Given the description of an element on the screen output the (x, y) to click on. 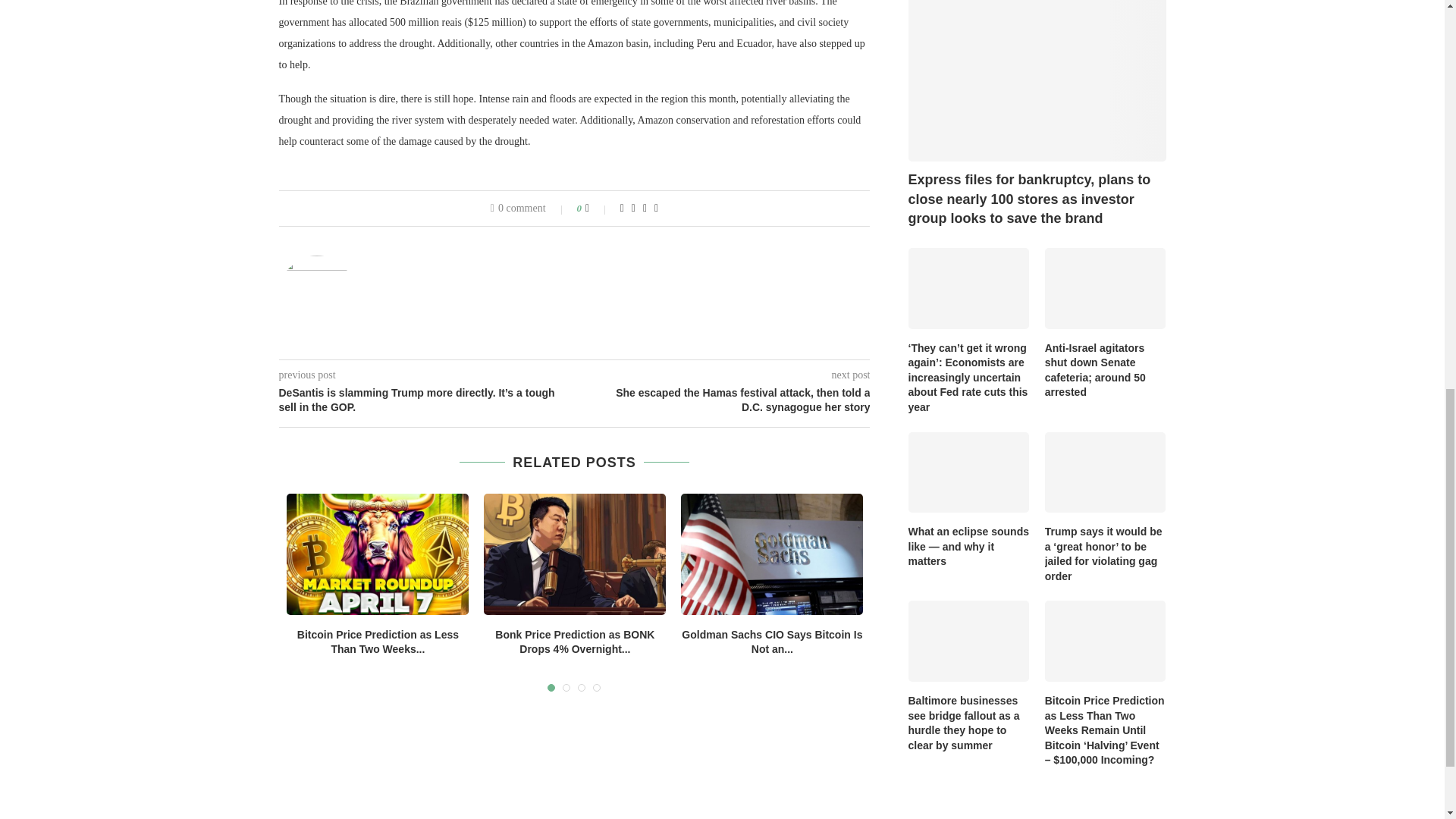
Like (597, 208)
